Given the description of an element on the screen output the (x, y) to click on. 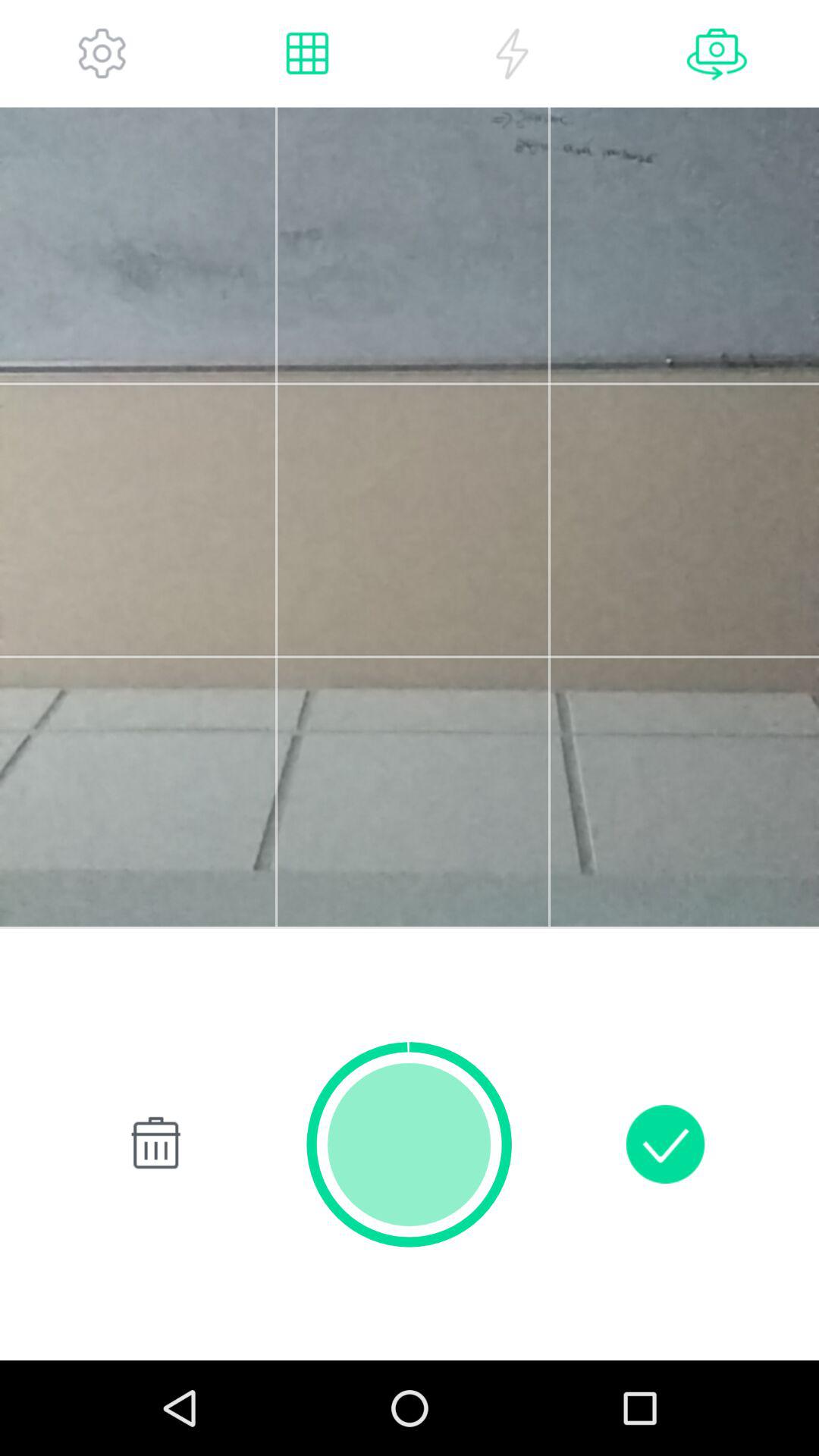
grid mode (306, 53)
